Given the description of an element on the screen output the (x, y) to click on. 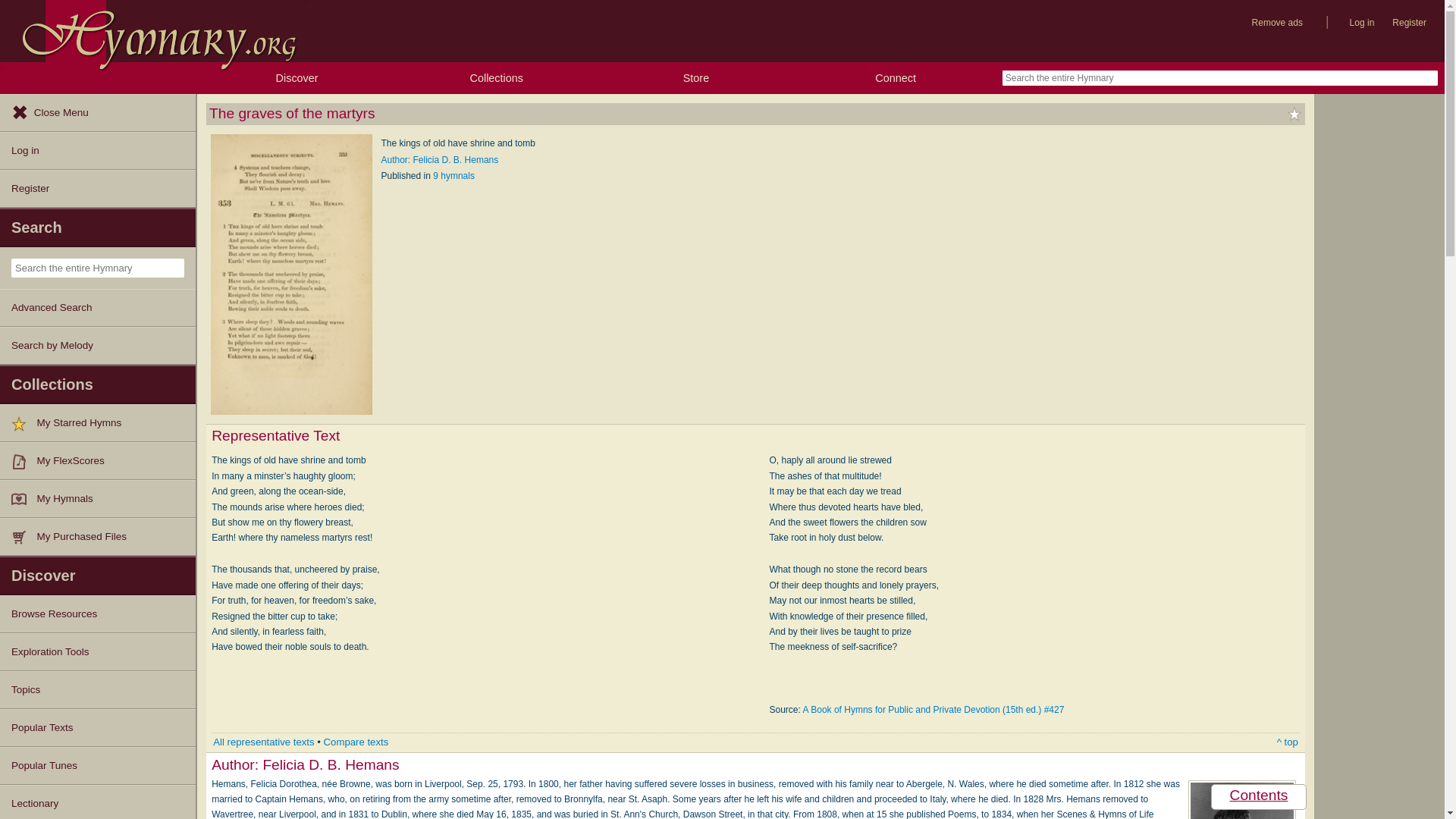
Log in (1361, 22)
Advanced Search (97, 307)
Log in (97, 150)
Home Page (153, 31)
Flexscore (24, 461)
In my hymnals (24, 499)
Remove ads (1277, 22)
Register (1408, 22)
Register (97, 188)
